Given the description of an element on the screen output the (x, y) to click on. 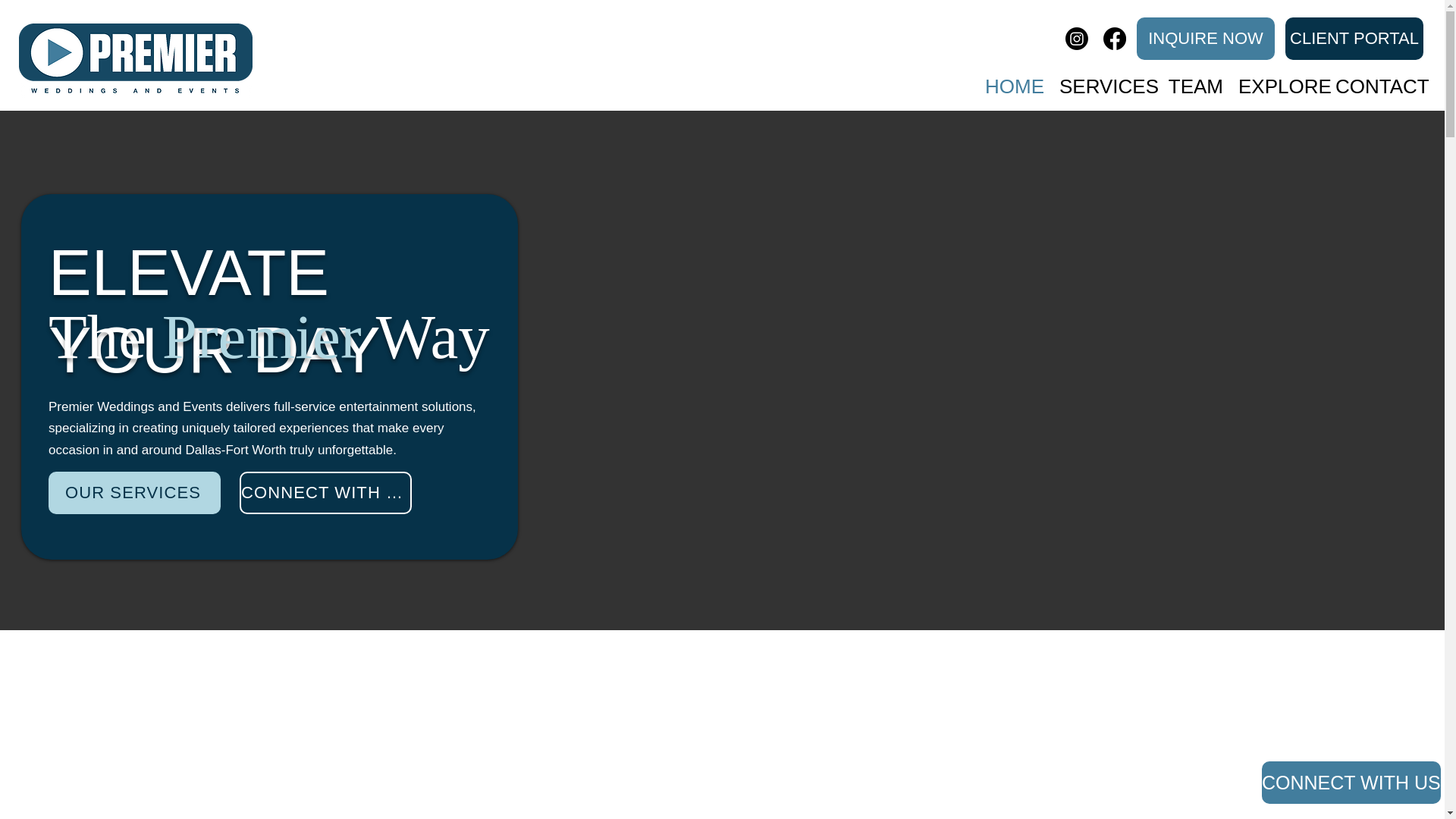
INQUIRE NOW (1206, 38)
CONTACT (1377, 79)
TEAM (1193, 79)
HOME (1013, 79)
OUR SERVICES (134, 492)
CONNECT WITH US (326, 492)
CONNECT WITH US (1351, 782)
CLIENT PORTAL (1354, 38)
